Given the description of an element on the screen output the (x, y) to click on. 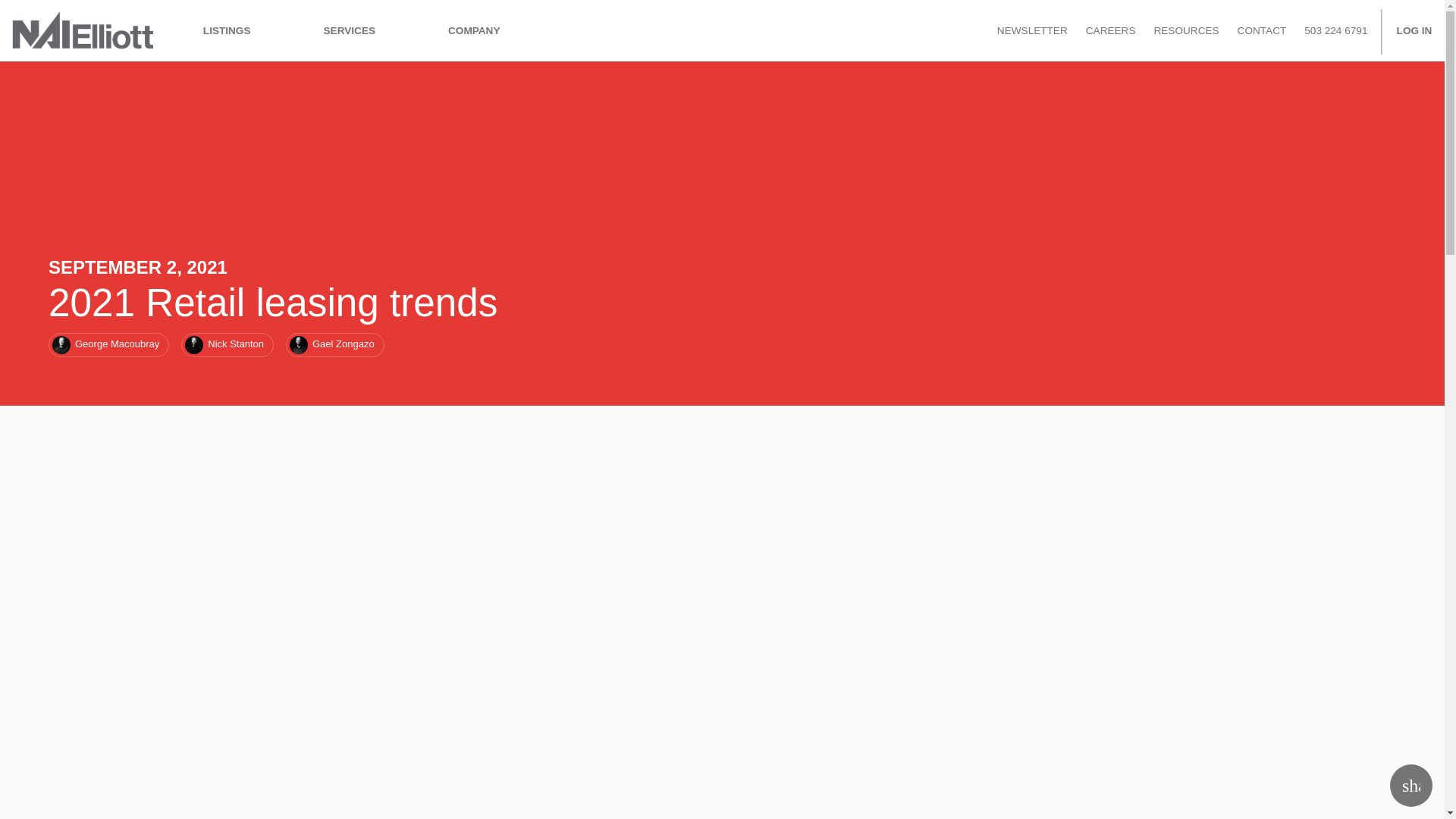
George Macoubray (108, 344)
Nick Stanton (226, 344)
LOG IN (1414, 30)
SERVICES (349, 30)
CONTACT (1261, 30)
CAREERS (1110, 30)
Gael Zongazo (334, 344)
LISTINGS (226, 30)
NEWSLETTER (1032, 30)
COMPANY (473, 30)
RESOURCES (1185, 30)
503 224 6791 (1335, 30)
